Given the description of an element on the screen output the (x, y) to click on. 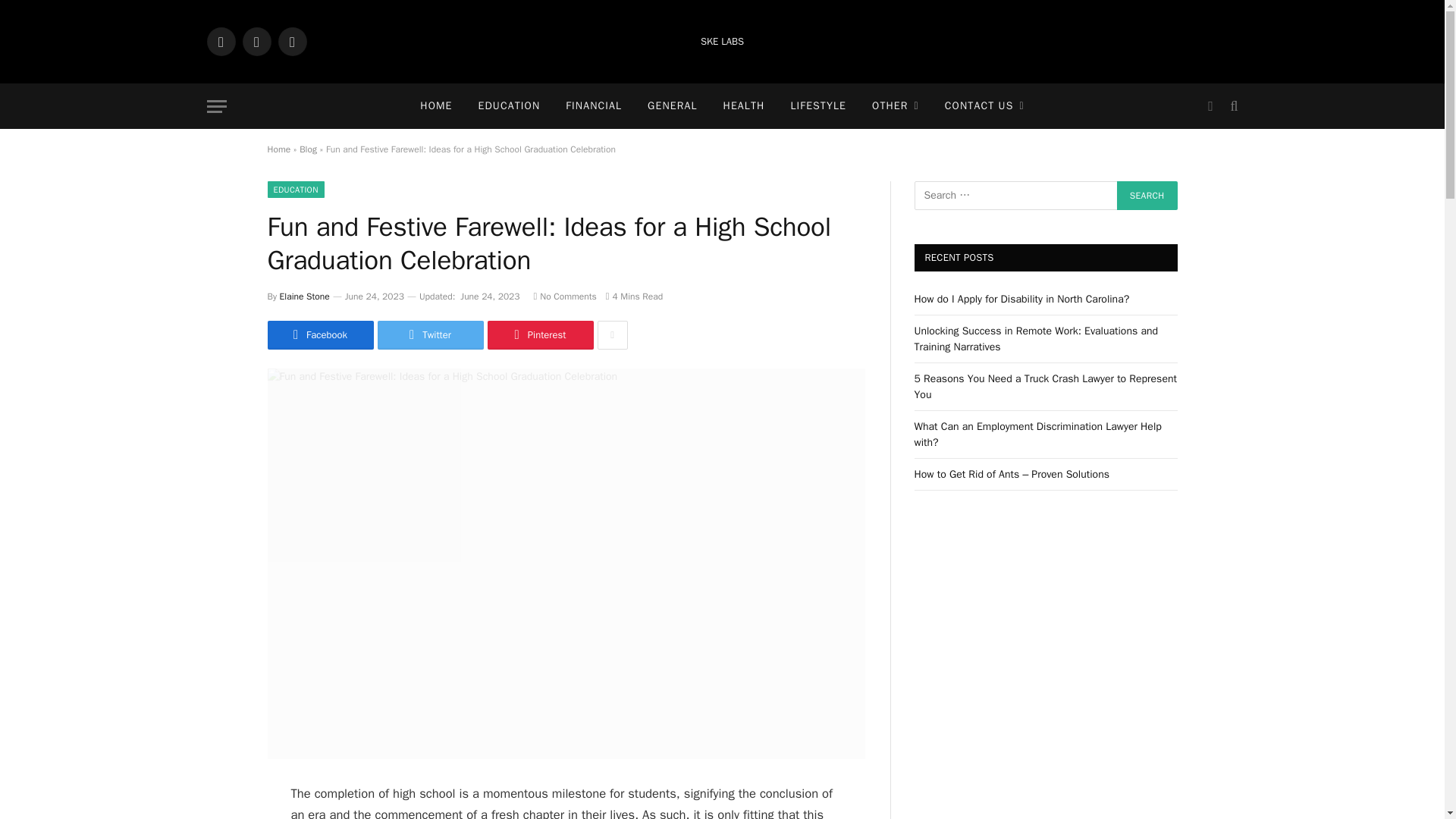
Show More Social Sharing (611, 335)
OTHER (895, 105)
Share on Twitter (430, 335)
Instagram (291, 41)
Switch to Dark Design - easier on eyes. (1209, 106)
Posts by Elaine Stone (304, 296)
Facebook (319, 335)
LIFESTYLE (818, 105)
Search (1146, 194)
Facebook (220, 41)
